Given the description of an element on the screen output the (x, y) to click on. 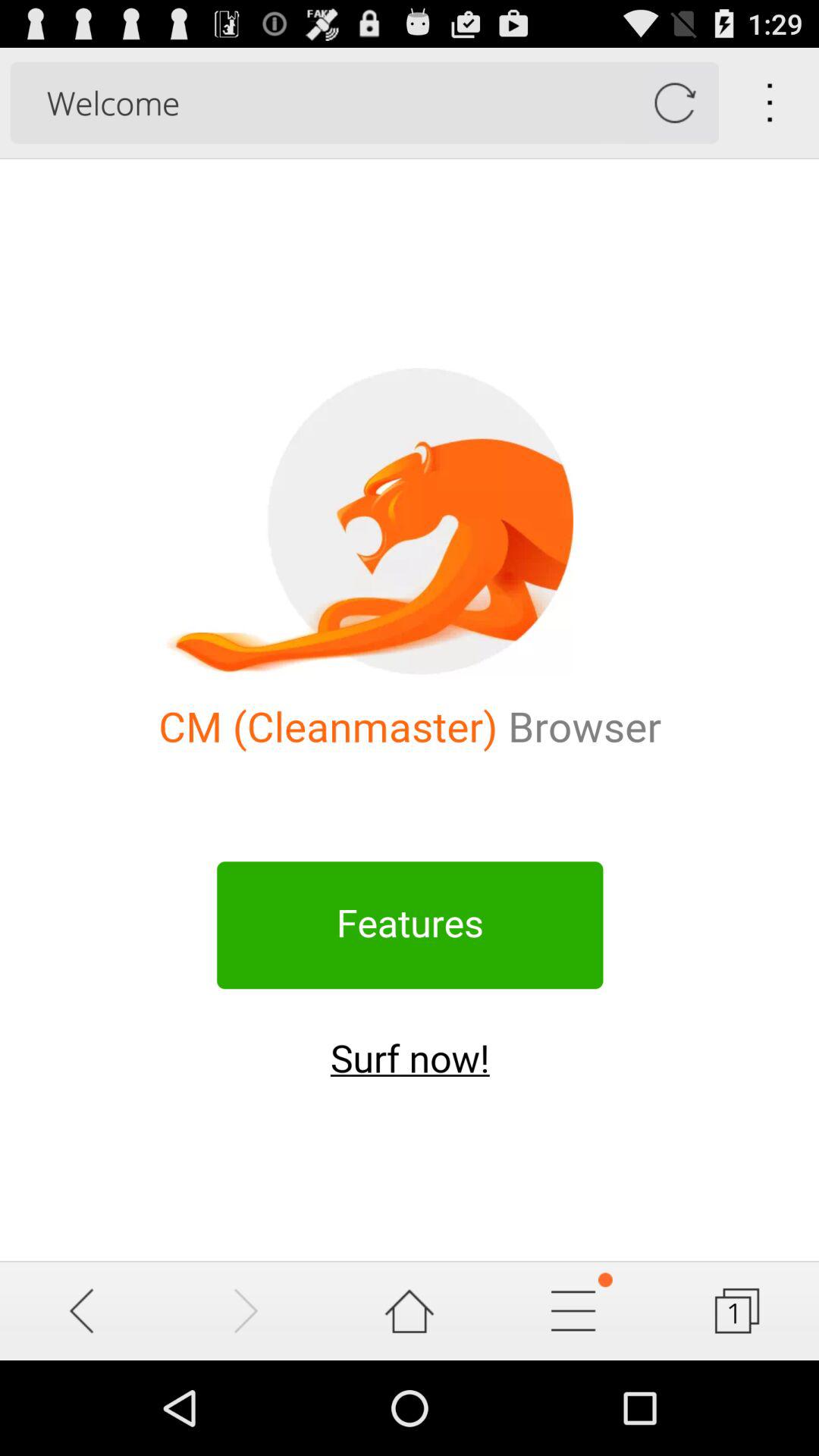
select the setting (573, 1310)
